Given the description of an element on the screen output the (x, y) to click on. 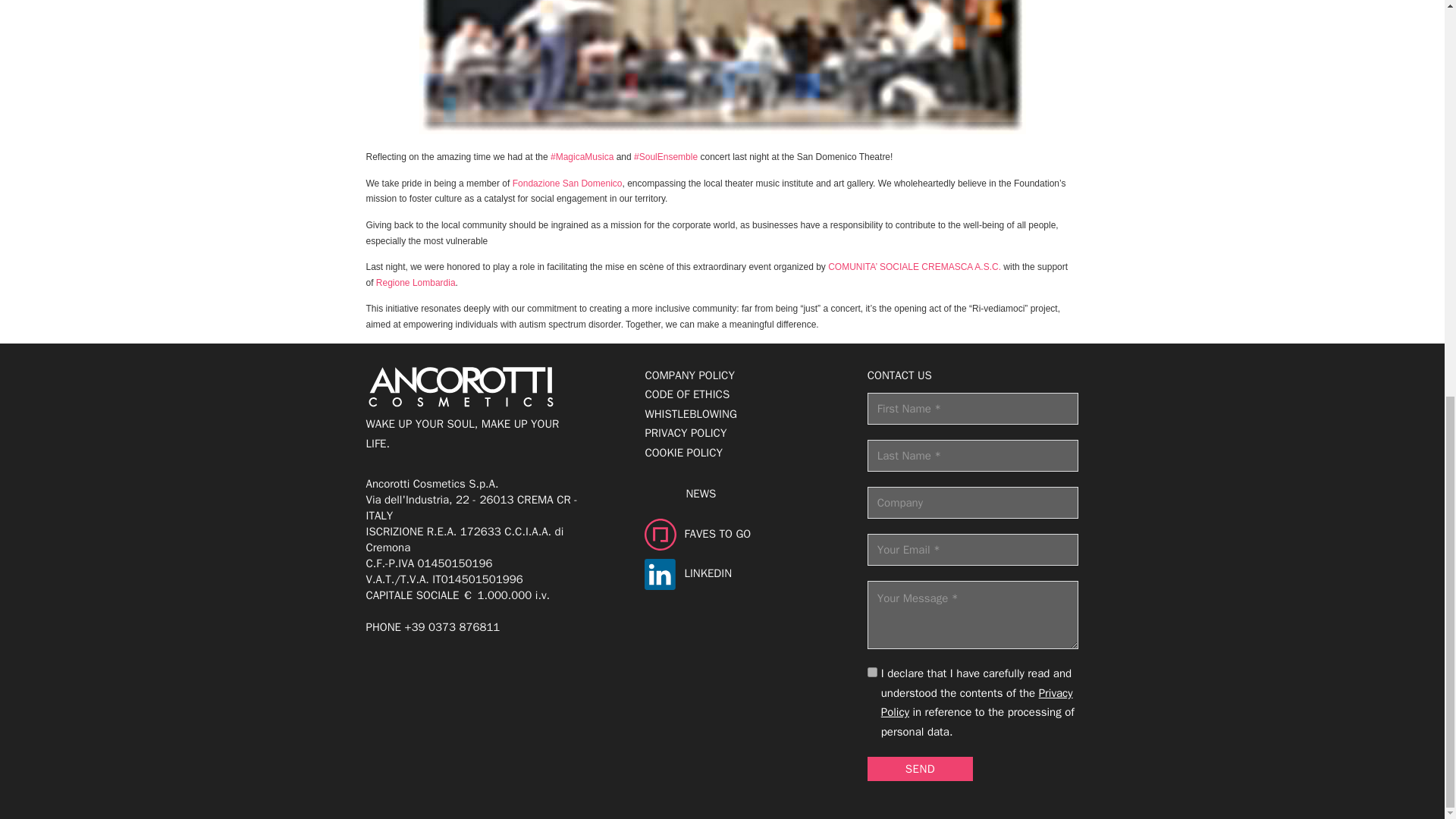
Privacy Policy (976, 702)
SEND (919, 768)
CODE OF ETHICS (690, 394)
NEWS (744, 494)
FAVES TO GO (744, 534)
WHISTLEBLOWING (690, 414)
COOKIE POLICY (690, 453)
COMPANY POLICY (690, 375)
LINKEDIN (744, 573)
